Given the description of an element on the screen output the (x, y) to click on. 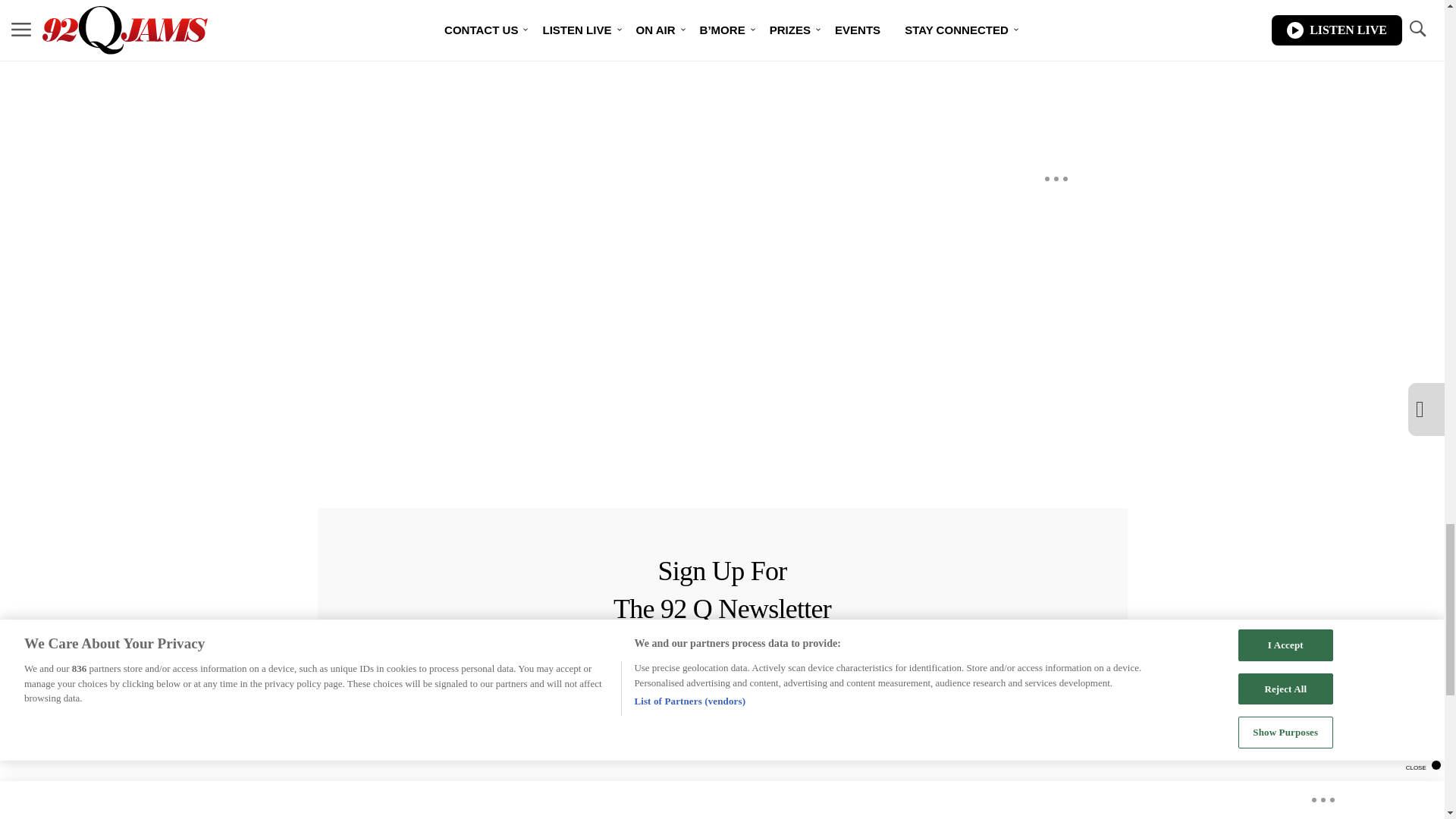
Vuukle Comments Widget (585, 92)
